Given the description of an element on the screen output the (x, y) to click on. 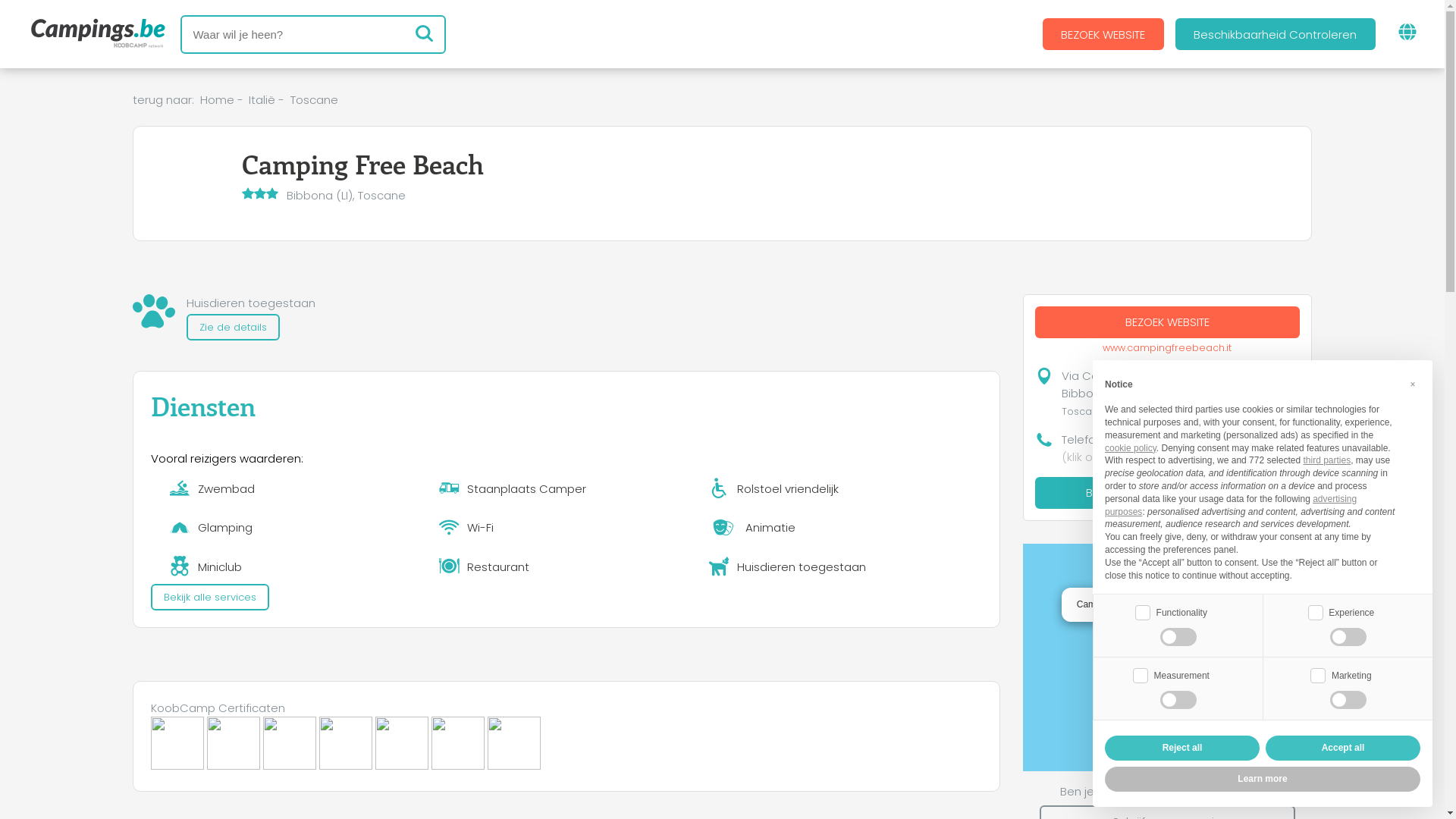
cookie policy Element type: text (1130, 447)
BEZOEK WEBSITE Element type: text (1102, 34)
Beschikbaarheid Controleren Element type: text (1167, 492)
Zie de details Element type: text (232, 326)
BEZOEK WEBSITE Element type: text (1167, 322)
Filter Element type: hover (423, 34)
advertising purposes Element type: text (1230, 505)
Reject all Element type: text (1181, 747)
www.campingfreebeach.it Element type: text (1167, 346)
Home Element type: text (217, 99)
Toscane Element type: text (313, 99)
Accept all Element type: text (1342, 747)
Bekijk alle services Element type: text (209, 596)
Beschikbaarheid Controleren Element type: text (1275, 34)
Learn more Element type: text (1262, 778)
third parties Element type: text (1326, 460)
